Given the description of an element on the screen output the (x, y) to click on. 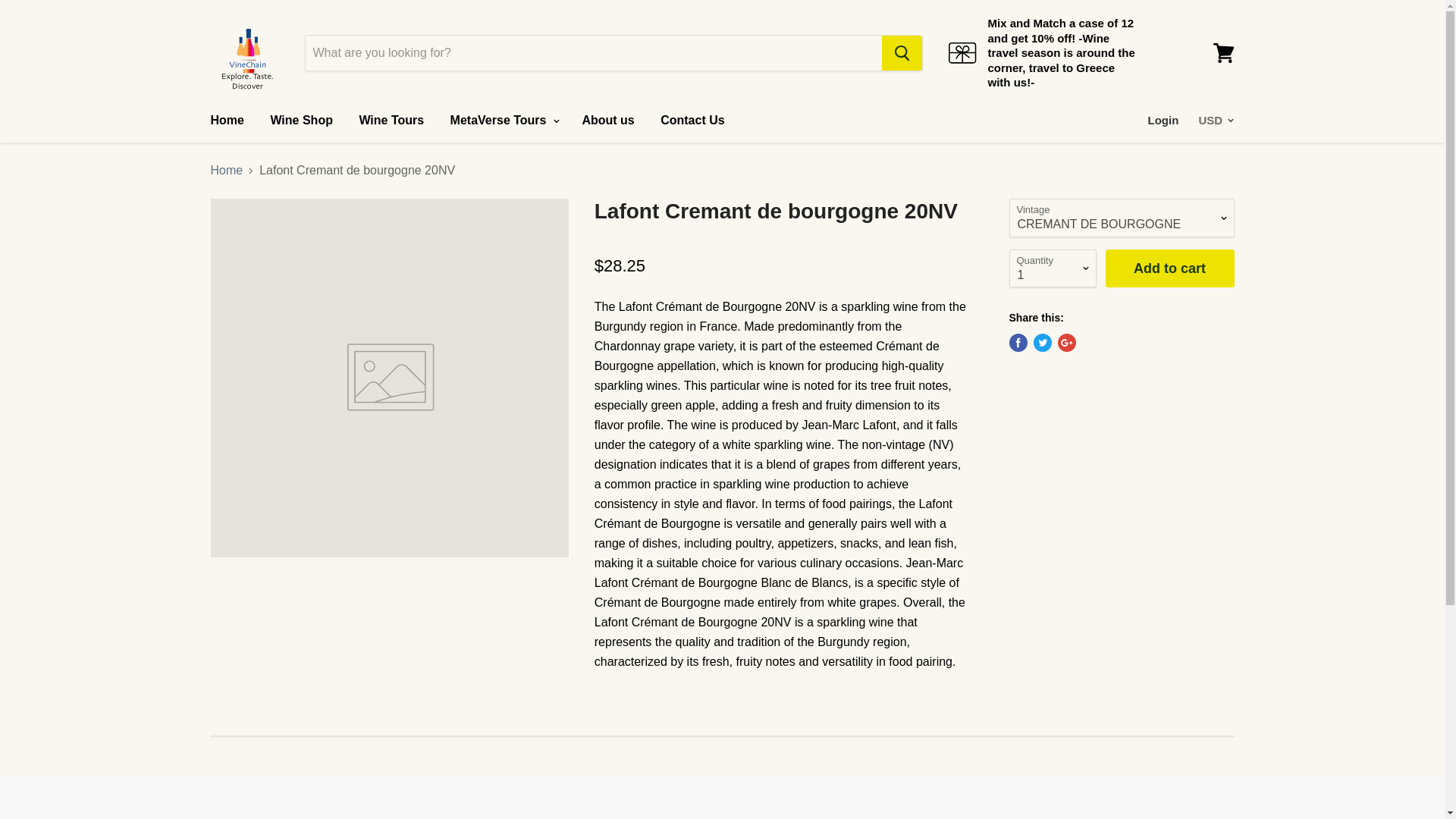
Login (1163, 120)
Home (226, 120)
About us (607, 120)
View cart (1223, 53)
Wine Shop (301, 120)
MetaVerse Tours (503, 120)
Wine Tours (391, 120)
Contact Us (692, 120)
